Given the description of an element on the screen output the (x, y) to click on. 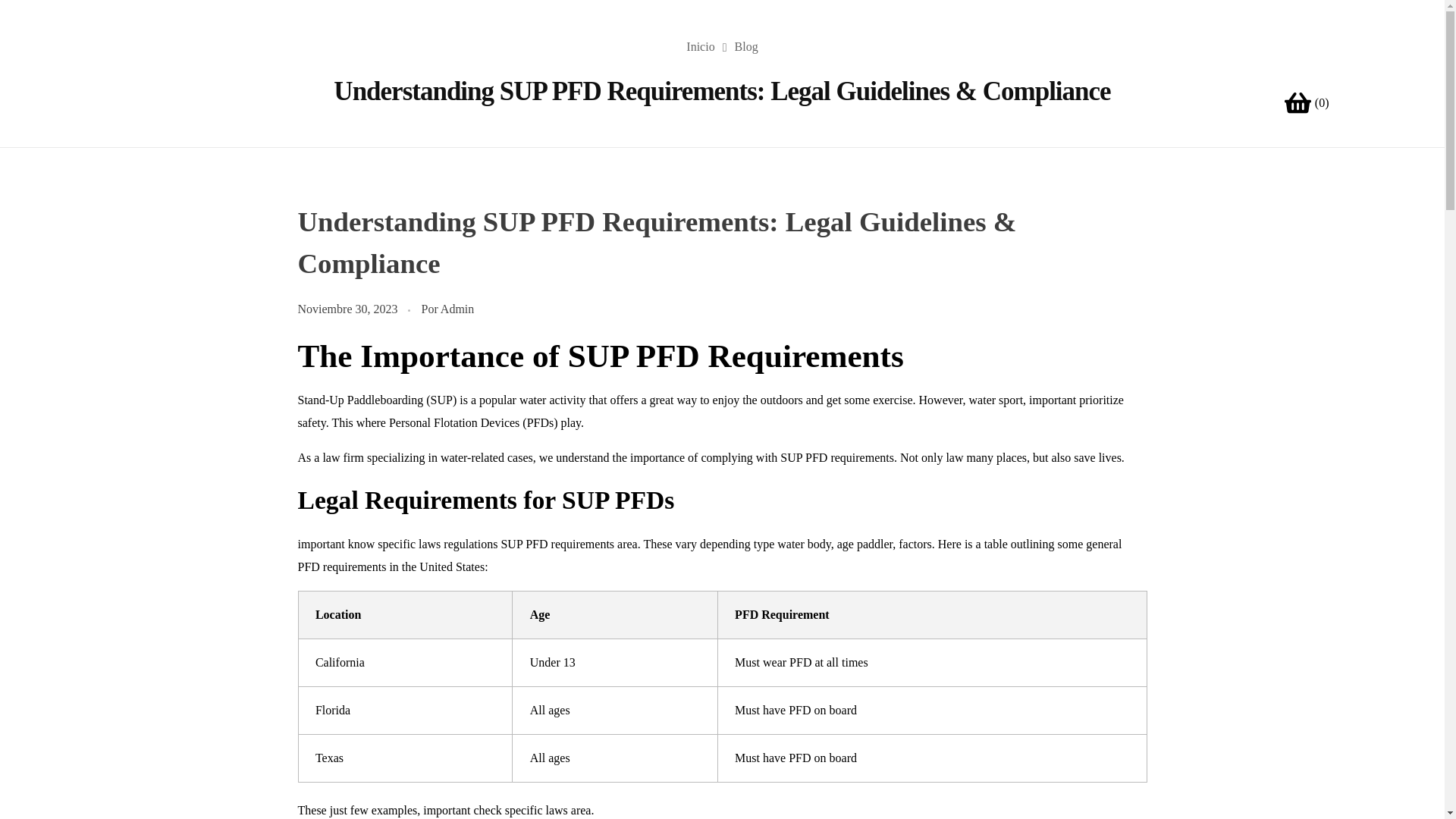
Inicio (699, 46)
Blog (746, 46)
Admin (457, 308)
Inicio (699, 46)
Ver todas las entradas de admin (457, 308)
Blog (746, 46)
